Given the description of an element on the screen output the (x, y) to click on. 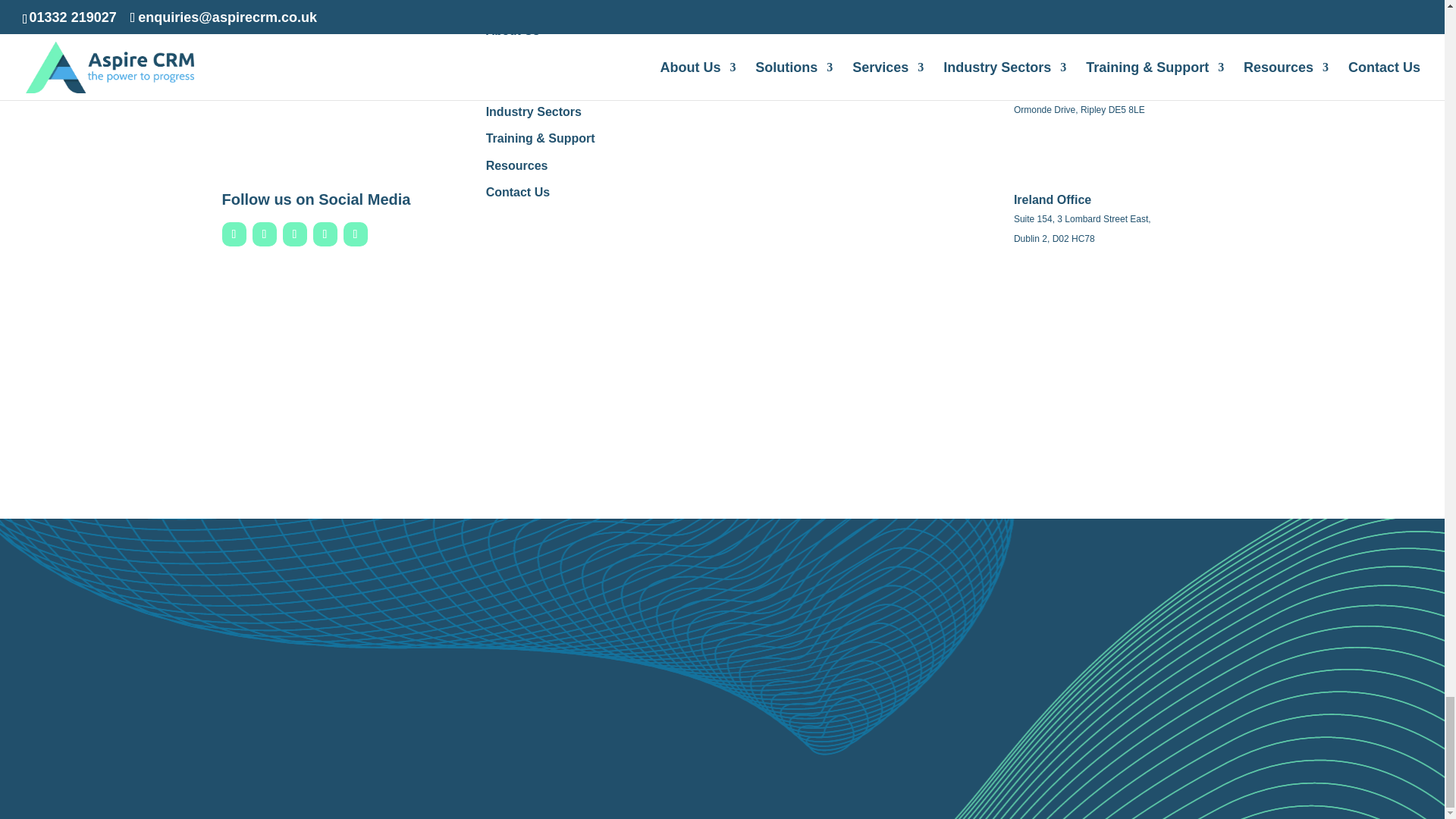
Follow on LinkedIn (263, 233)
Follow on Facebook (233, 233)
Solutions (513, 56)
Services (510, 83)
Follow on TikTok (354, 233)
Follow on Youtube (324, 233)
About Us (513, 30)
Follow on Instagram (293, 233)
